Given the description of an element on the screen output the (x, y) to click on. 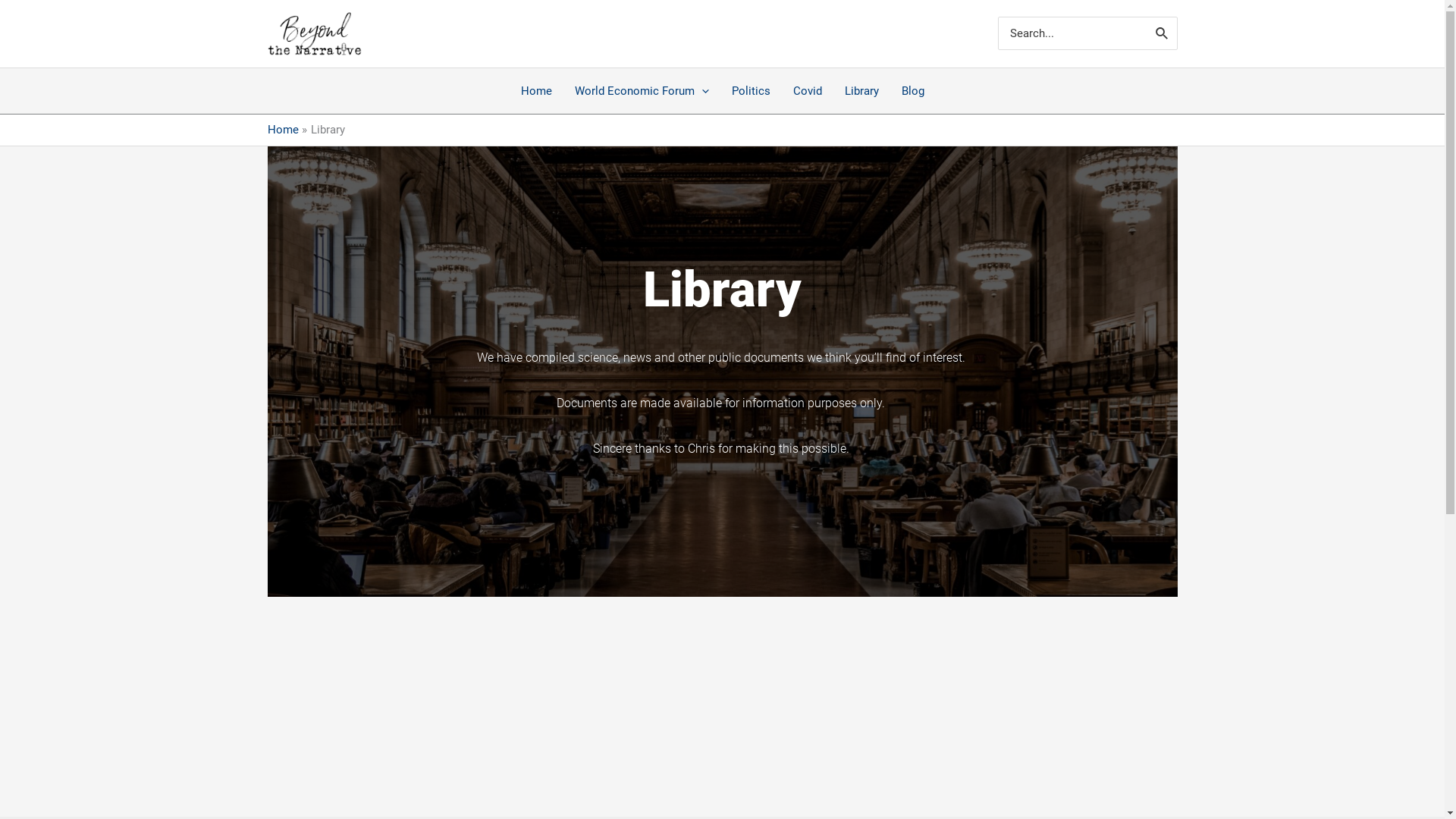
Blog Element type: text (912, 90)
Covid Element type: text (806, 90)
Library Element type: text (860, 90)
Home Element type: text (282, 129)
World Economic Forum Element type: text (640, 90)
Politics Element type: text (750, 90)
Search Element type: text (1162, 33)
Home Element type: text (536, 90)
